Given the description of an element on the screen output the (x, y) to click on. 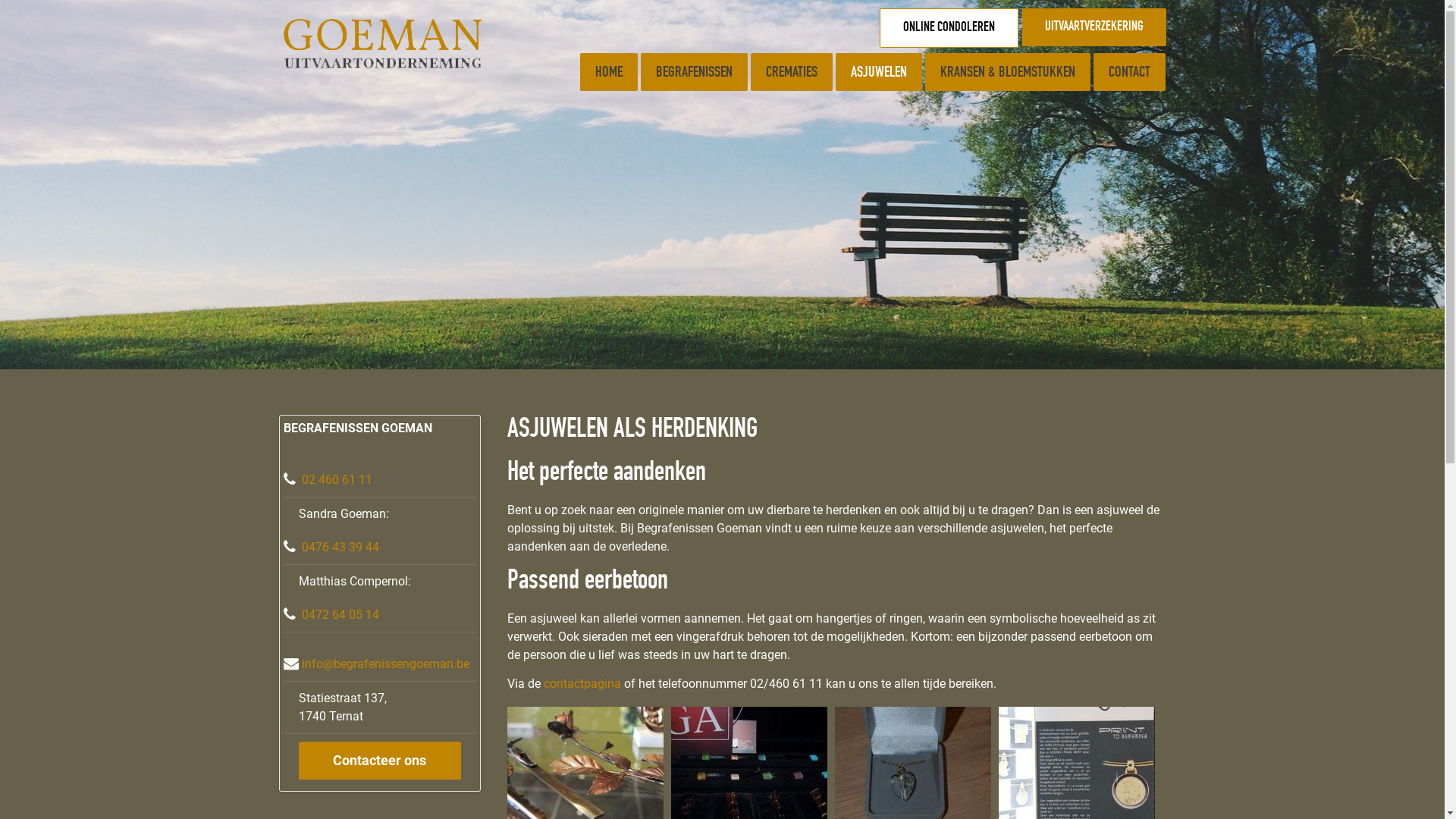
CREMATIES Element type: text (791, 72)
BEGRAFENISSEN Element type: text (693, 72)
0472 64 05 14 Element type: text (340, 614)
CONTACT Element type: text (1129, 72)
ONLINE CONDOLEREN Element type: text (948, 27)
Contacteer ons Element type: text (379, 760)
info@begrafenissengoeman.be Element type: text (385, 663)
0476 43 39 44 Element type: text (340, 546)
02 460 61 11 Element type: text (336, 479)
ASJUWELEN Element type: text (878, 72)
HOME Element type: text (608, 72)
UITVAARTVERZEKERING Element type: text (1094, 27)
KRANSEN & BLOEMSTUKKEN Element type: text (1007, 72)
contactpagina Element type: text (582, 683)
